Given the description of an element on the screen output the (x, y) to click on. 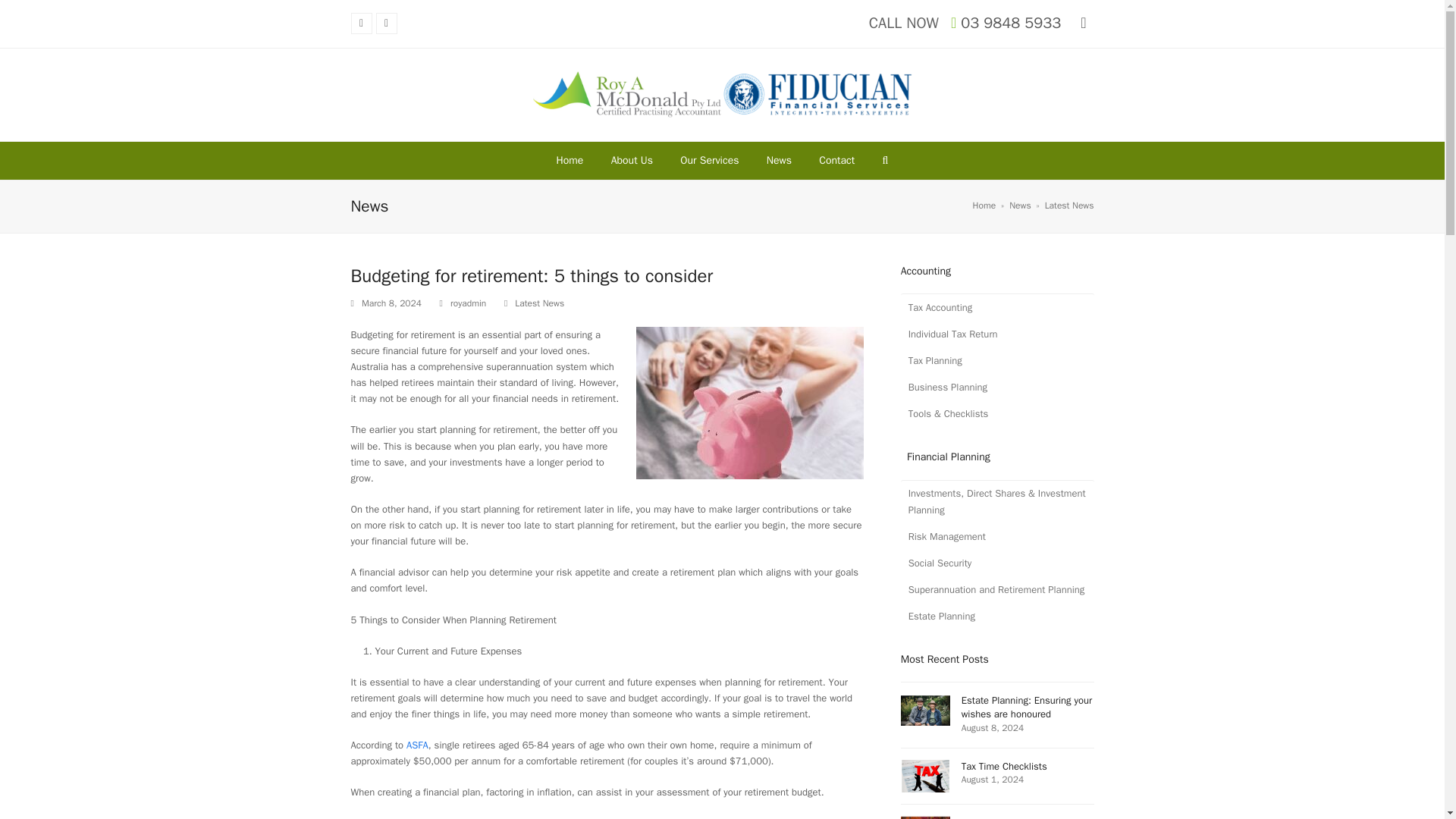
royadmin (467, 303)
ASFA (417, 744)
Home (569, 160)
About Us (631, 160)
Latest News (539, 303)
News (779, 160)
Contact (836, 160)
LinkedIn (360, 23)
Latest News (1069, 205)
Facebook (386, 23)
